Given the description of an element on the screen output the (x, y) to click on. 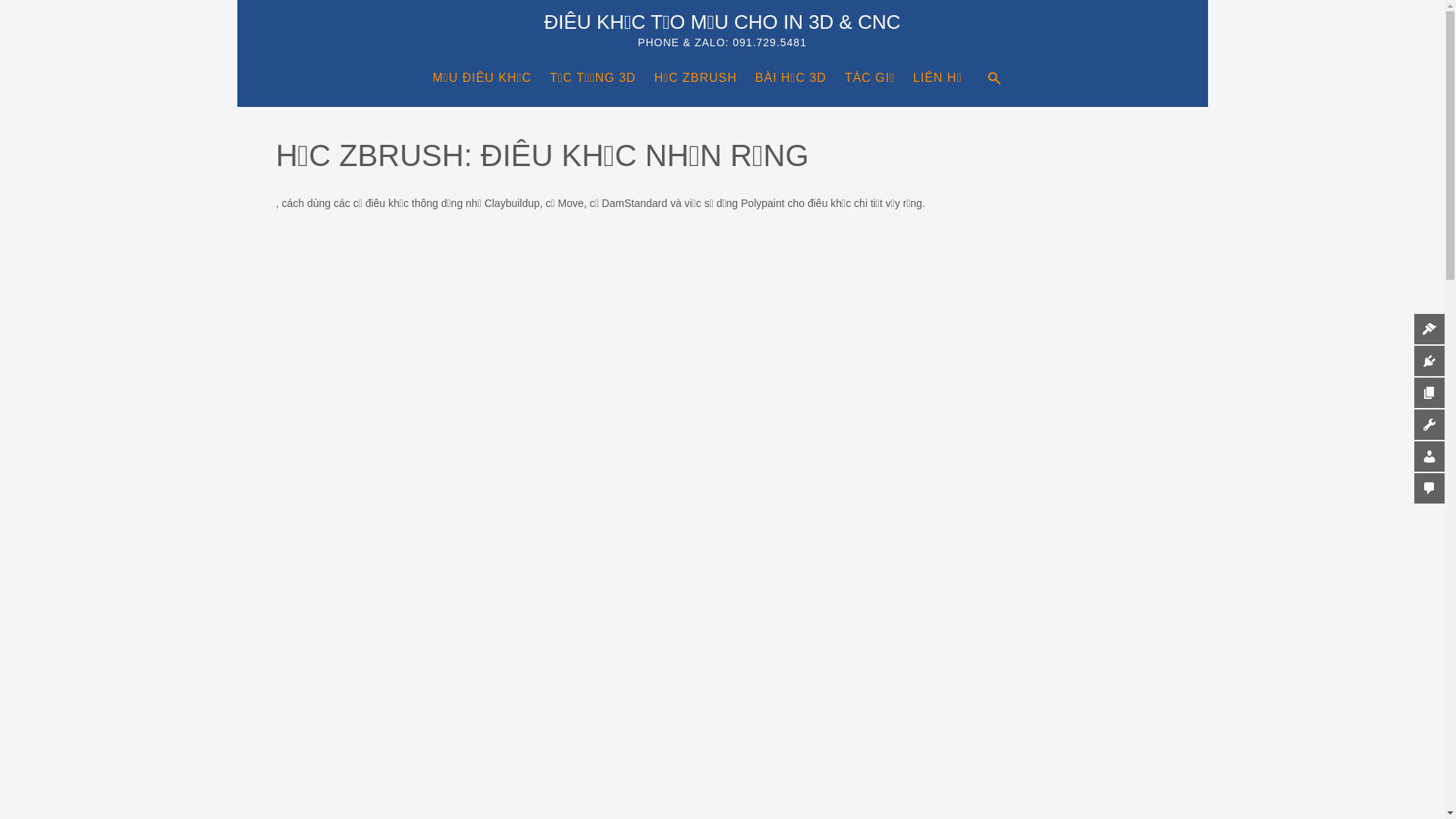
Skip to content Element type: text (236, 0)
